Given the description of an element on the screen output the (x, y) to click on. 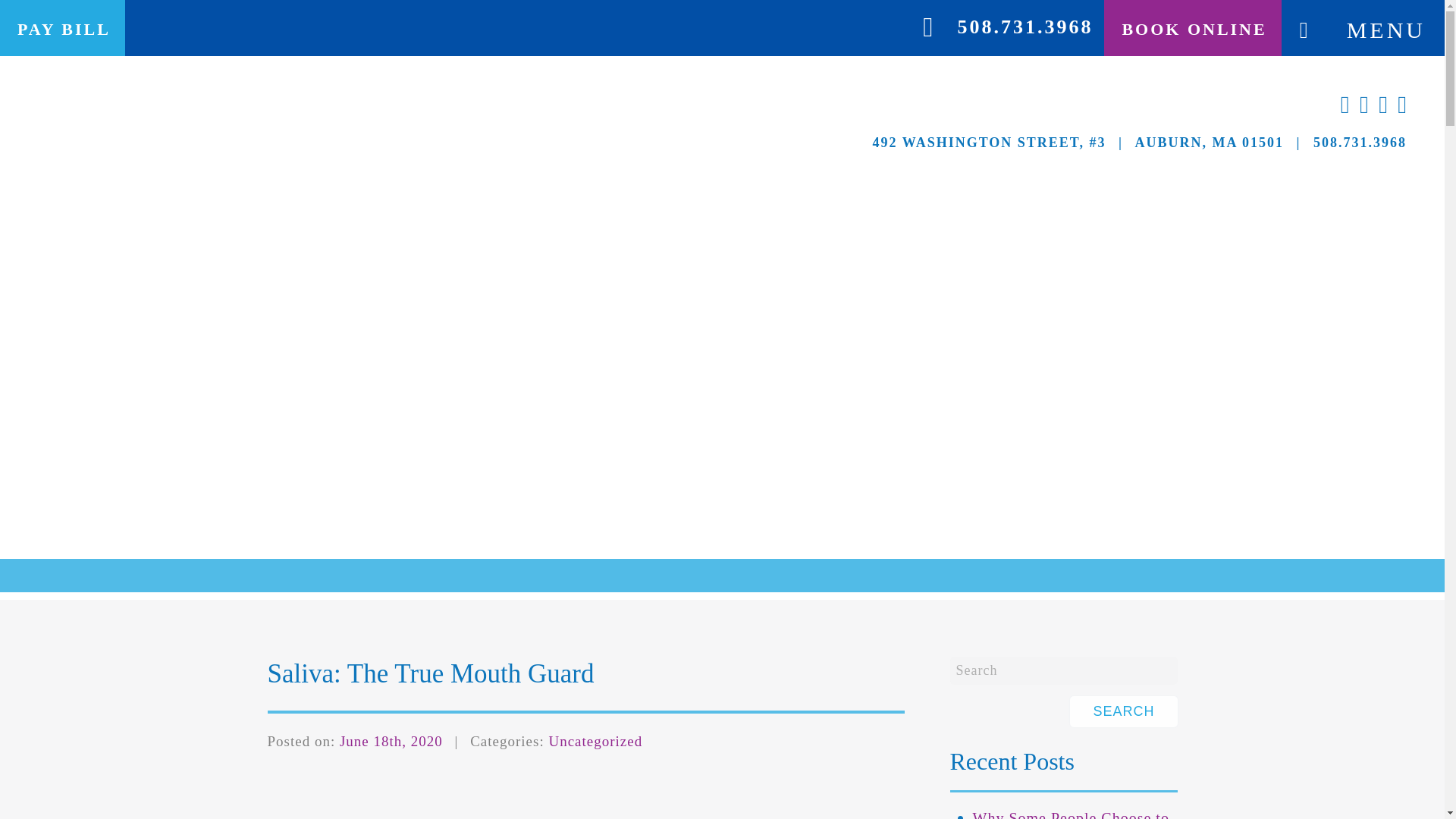
PAY BILL (62, 29)
508.731.3968 (1024, 26)
Search (1062, 670)
BOOK ONLINE (1192, 29)
June 18th, 2020 (390, 741)
Uncategorized (595, 741)
Search (1123, 711)
Search (1123, 711)
